Given the description of an element on the screen output the (x, y) to click on. 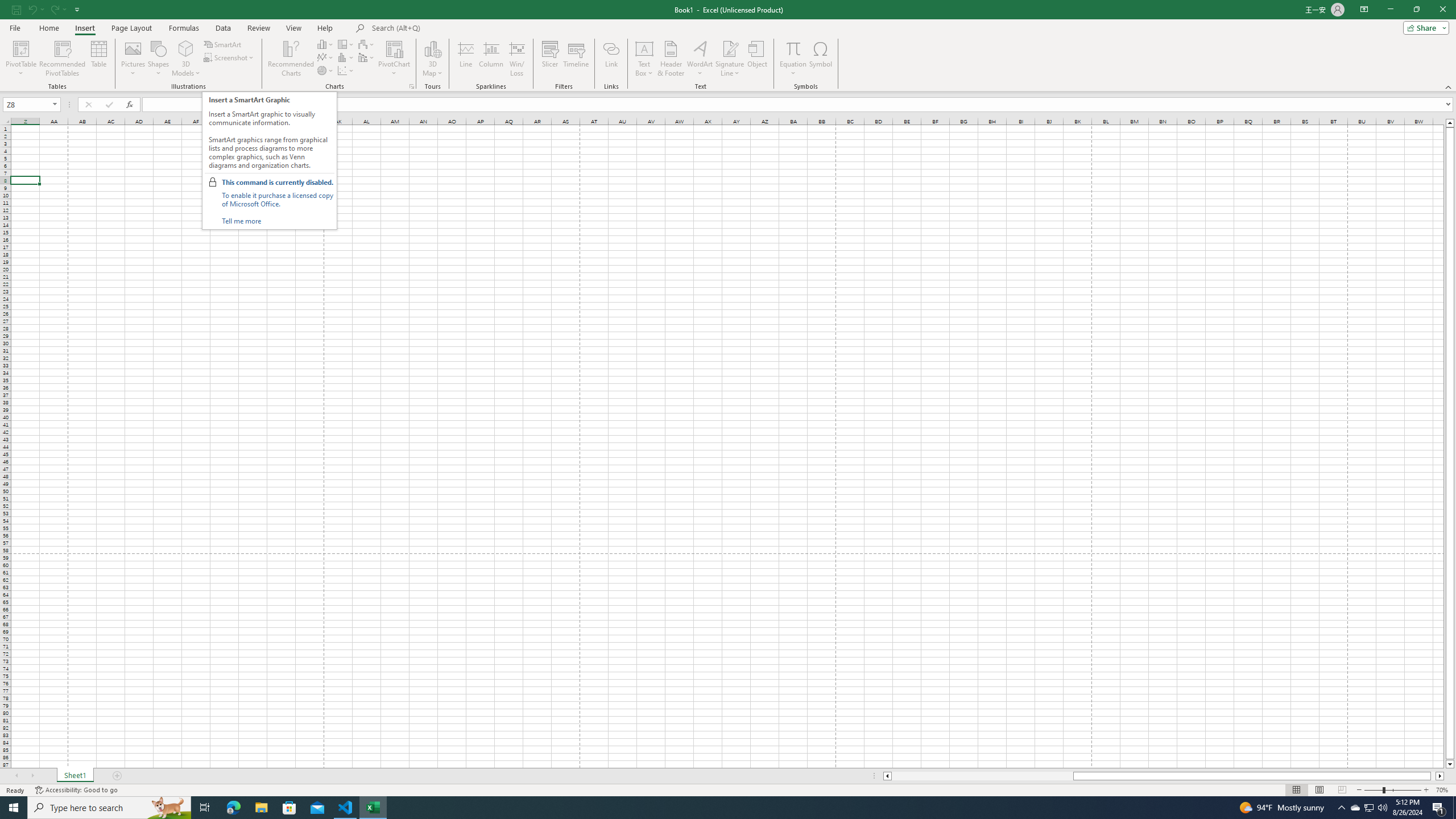
Column left (886, 775)
Object... (757, 58)
3D Models (186, 58)
View (293, 28)
Scroll Left (16, 775)
Column right (1440, 775)
Signature Line (729, 58)
Accessibility Checker Accessibility: Good to go (76, 790)
Header & Footer... (670, 58)
Sheet1 (74, 775)
Collapse the Ribbon (1448, 86)
This command is currently disabled. (277, 181)
Insert Hierarchy Chart (346, 44)
More Options (793, 68)
File Tab (15, 27)
